Given the description of an element on the screen output the (x, y) to click on. 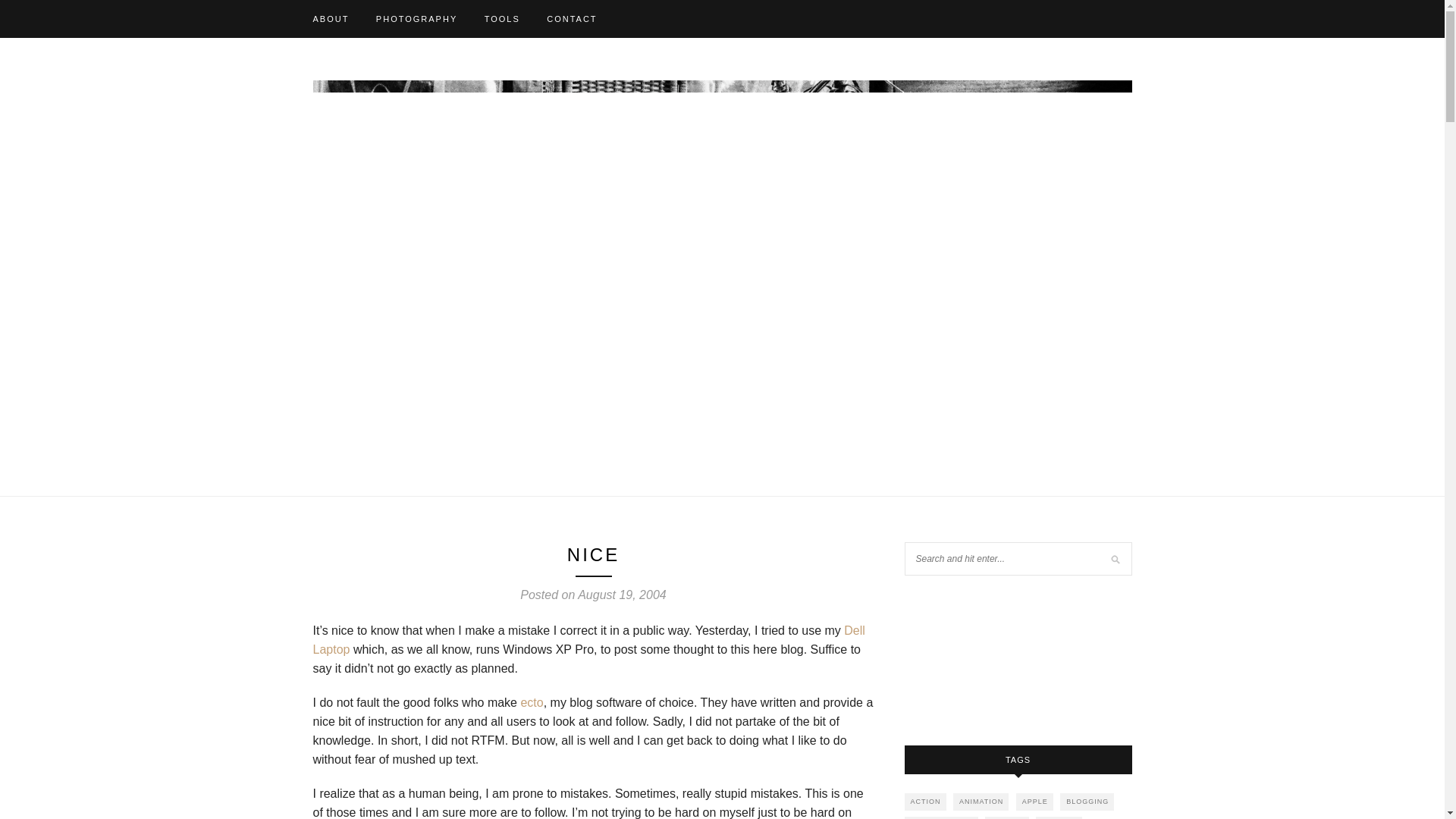
APPLE (1034, 801)
ABOUT (331, 18)
COFFEE (1007, 817)
PHOTOGRAPHY (416, 18)
BLOGGING (1086, 801)
CONTACT (571, 18)
CARRIE FISHER (941, 817)
TOOLS (501, 18)
ANIMATION (981, 801)
ACTION (924, 801)
